Given the description of an element on the screen output the (x, y) to click on. 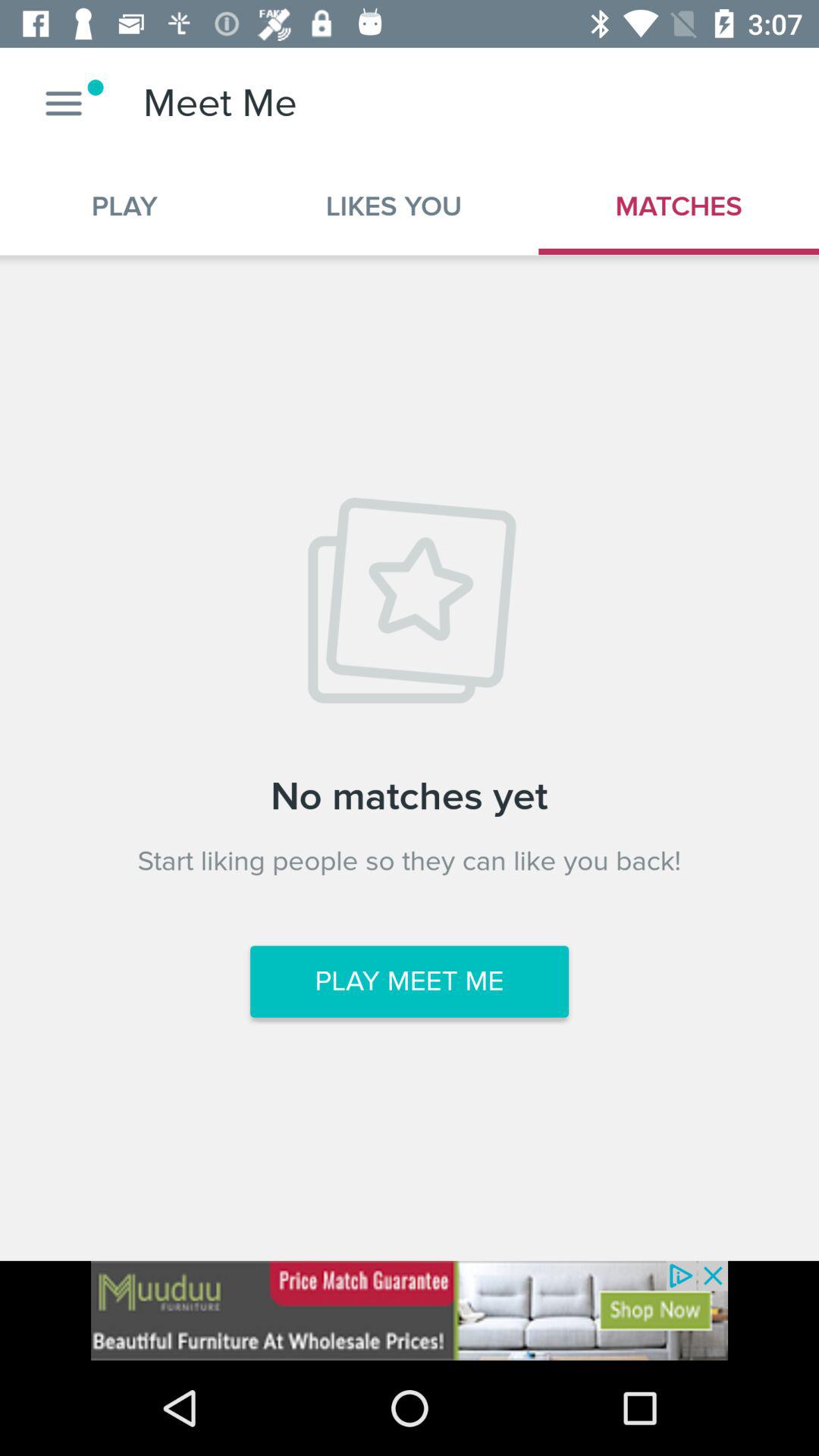
advertisements image (409, 1310)
